Given the description of an element on the screen output the (x, y) to click on. 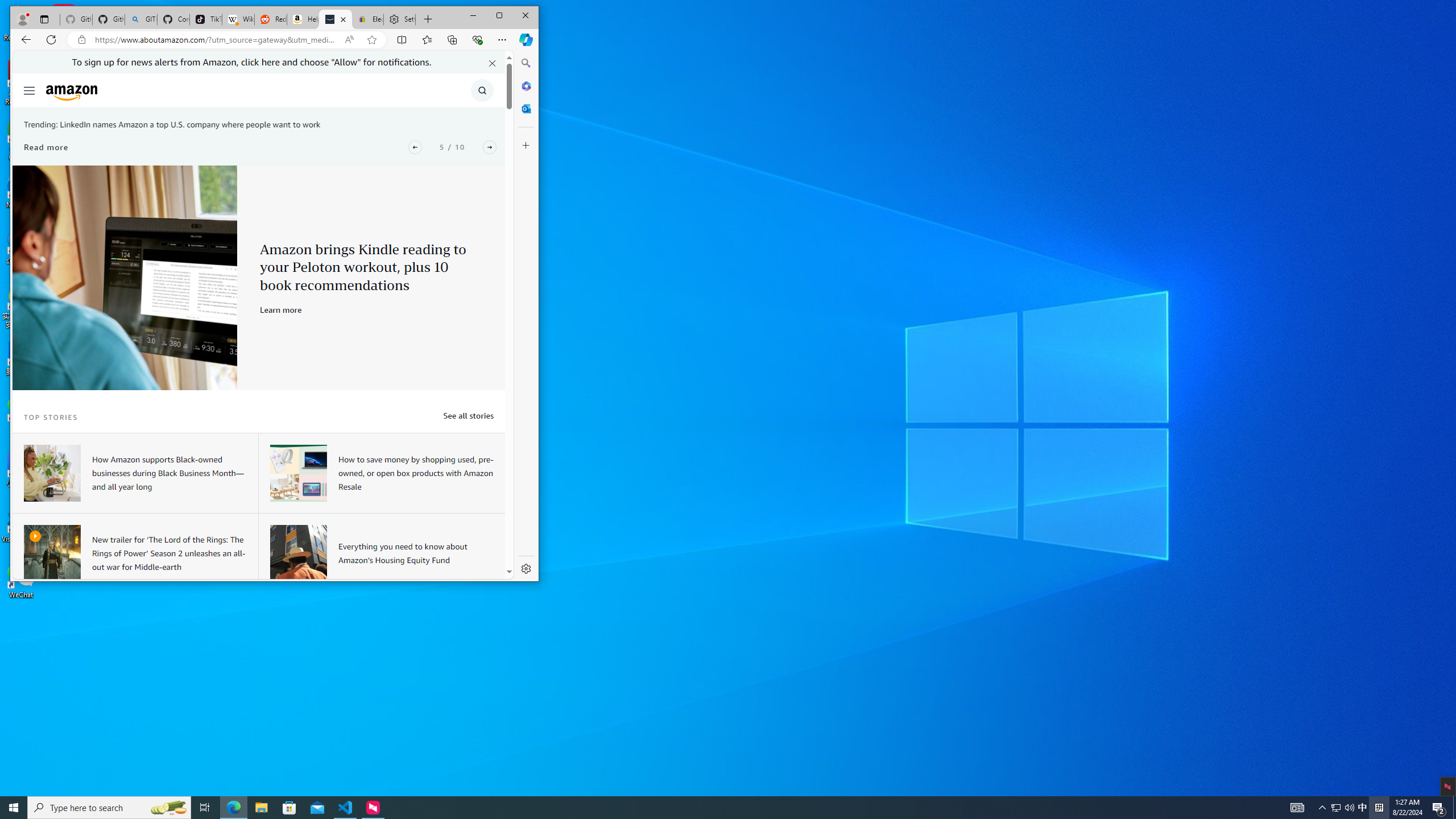
AutomationID: 4105 (1297, 807)
Class: icon-search (481, 89)
Action Center, 2 new notifications (1439, 807)
GITHUB - Search (140, 19)
Tray Input Indicator - Chinese (Simplified, China) (1378, 807)
